Given the description of an element on the screen output the (x, y) to click on. 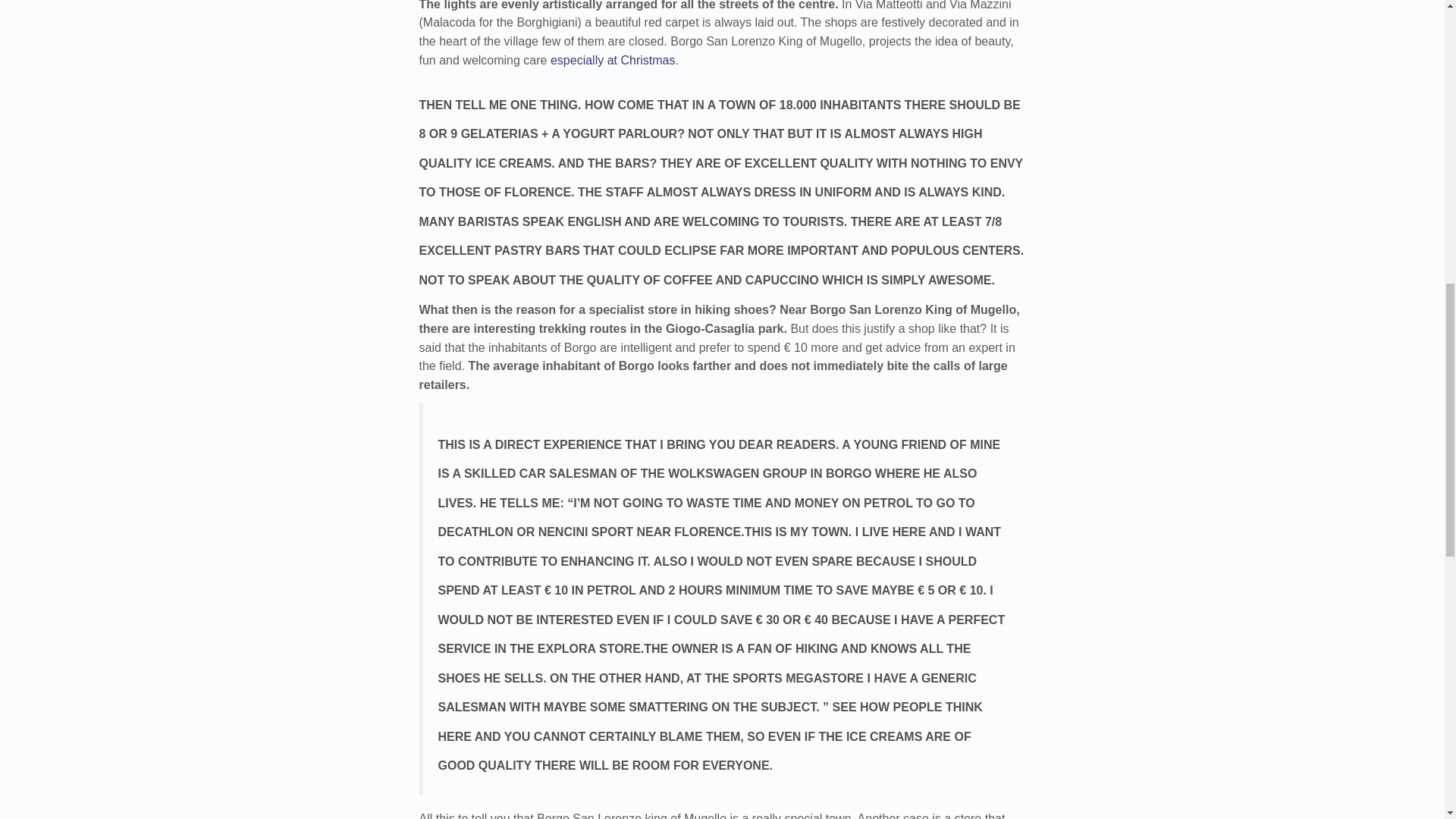
especially at Christmas (612, 60)
